Given the description of an element on the screen output the (x, y) to click on. 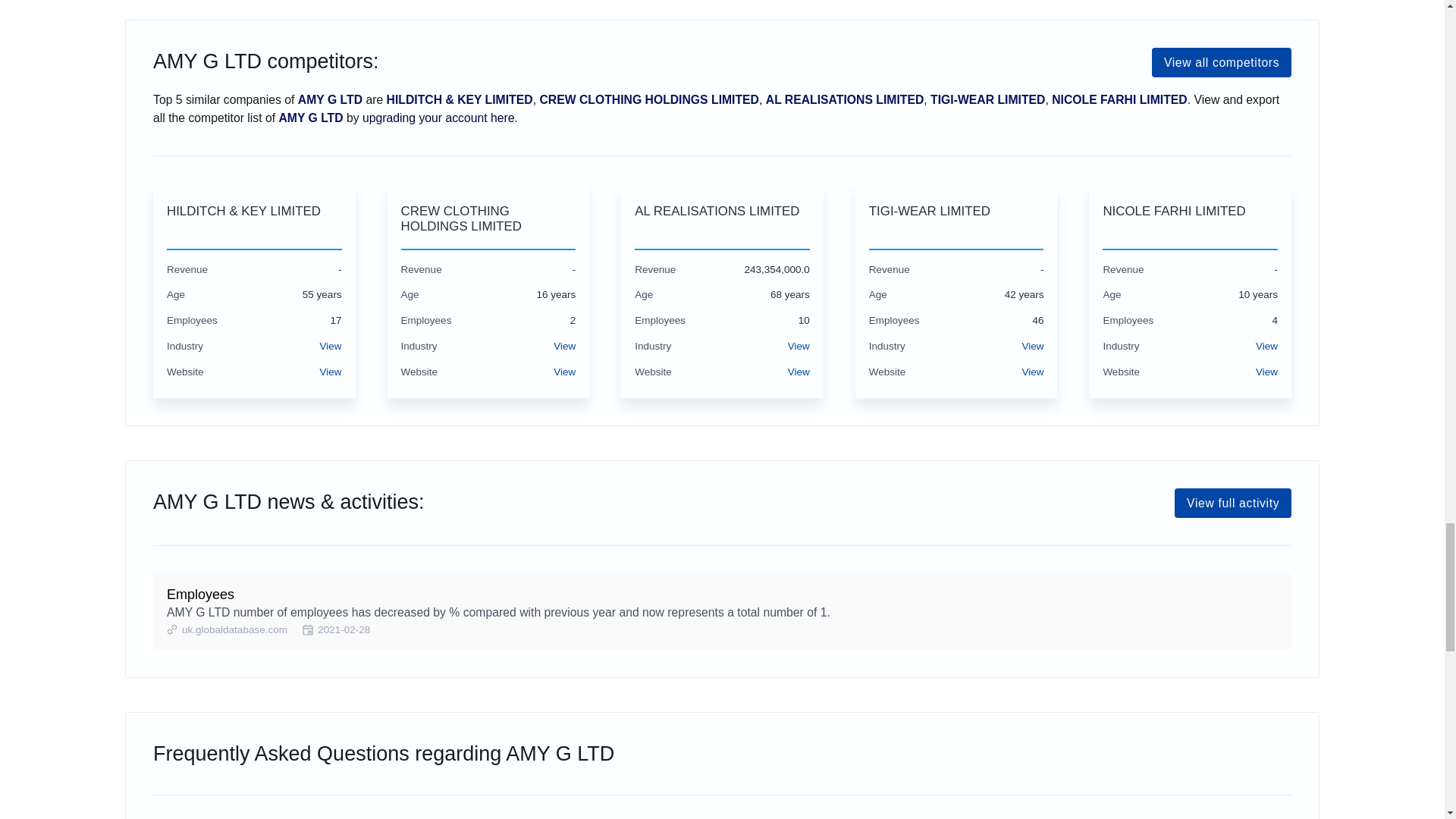
AL REALISATIONS LIMITED (721, 219)
TIGI-WEAR LIMITED (956, 219)
CREW CLOTHING HOLDINGS LIMITED (488, 219)
NICOLE FARHI LIMITED (1190, 219)
